Given the description of an element on the screen output the (x, y) to click on. 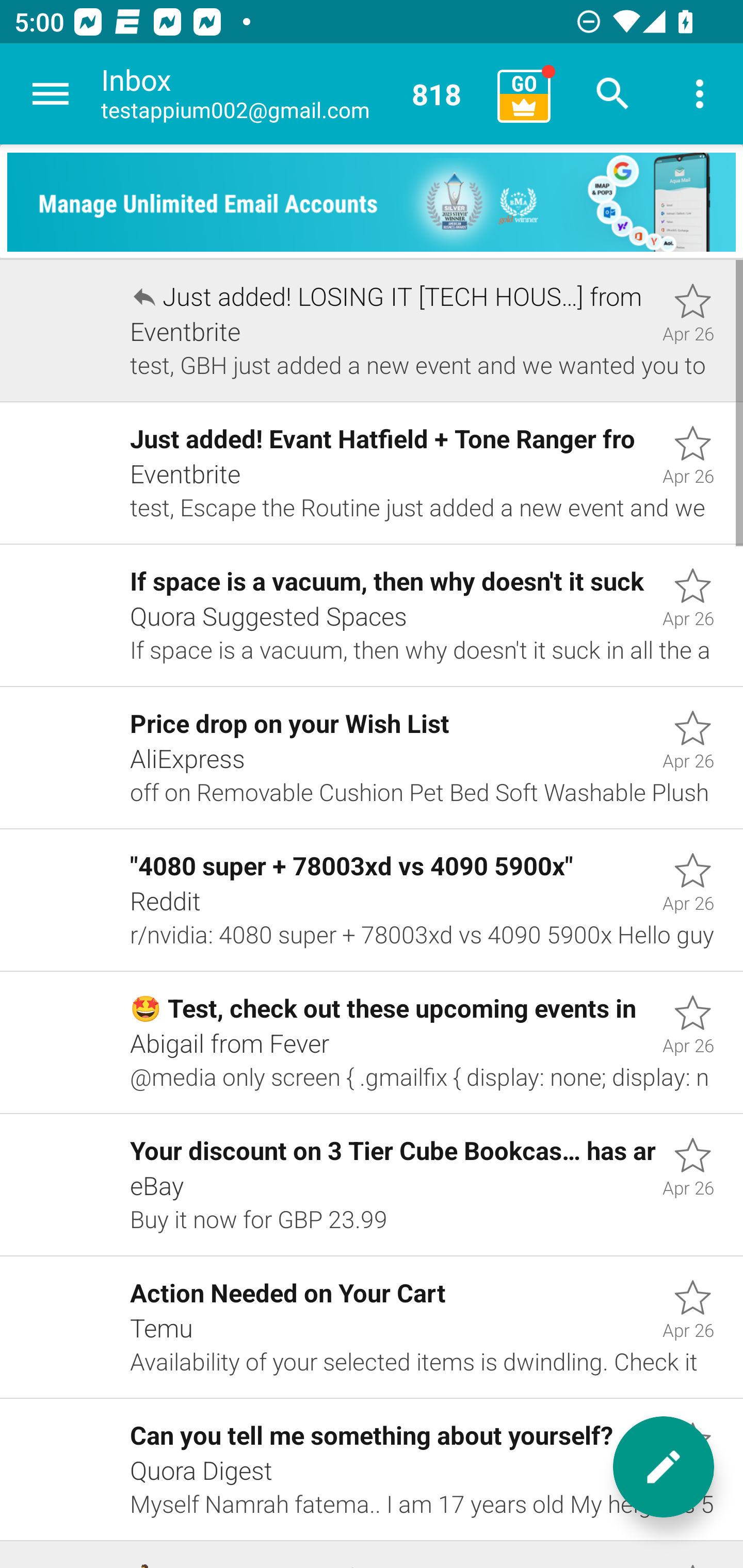
Navigate up (50, 93)
Inbox testappium002@gmail.com 818 (291, 93)
Search (612, 93)
More options (699, 93)
New message (663, 1466)
